Given the description of an element on the screen output the (x, y) to click on. 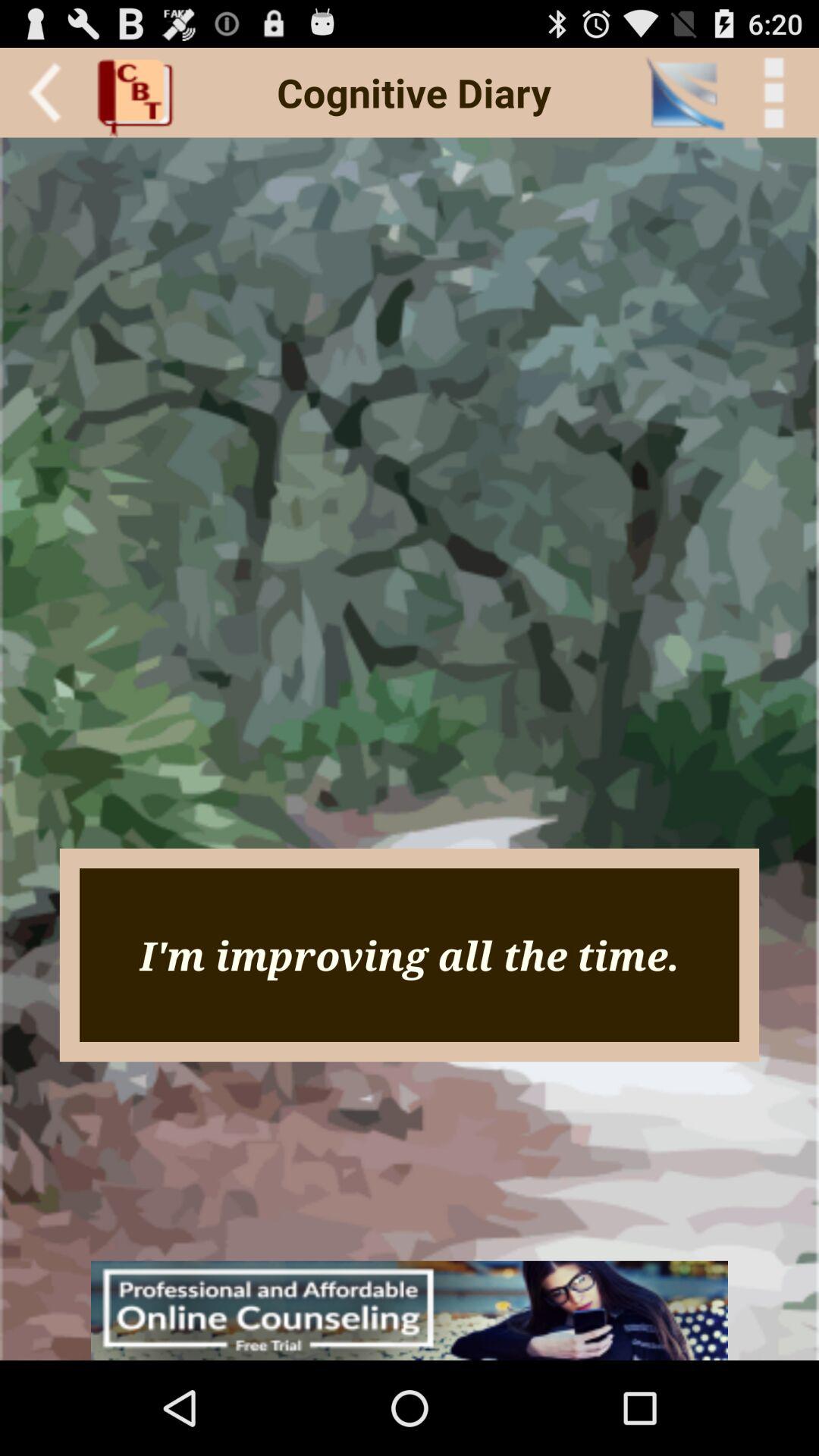
select the icon next to cognitive diary (139, 92)
